Given the description of an element on the screen output the (x, y) to click on. 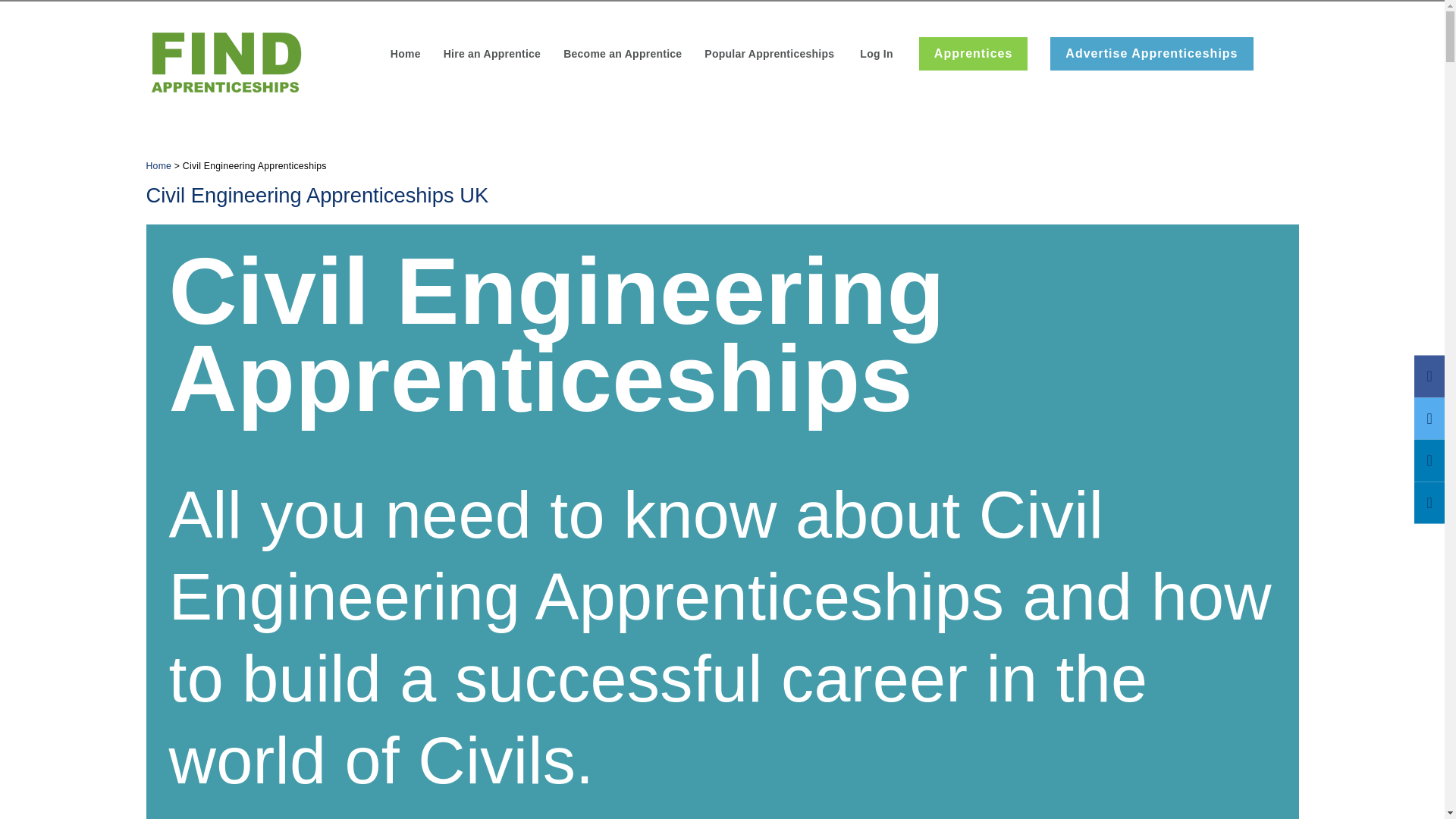
Find Apprenticeships (224, 61)
Become an Apprentice (622, 54)
Advertise Apprenticeships (1150, 53)
Hire an Apprentice (492, 54)
Home (405, 54)
